Given the description of an element on the screen output the (x, y) to click on. 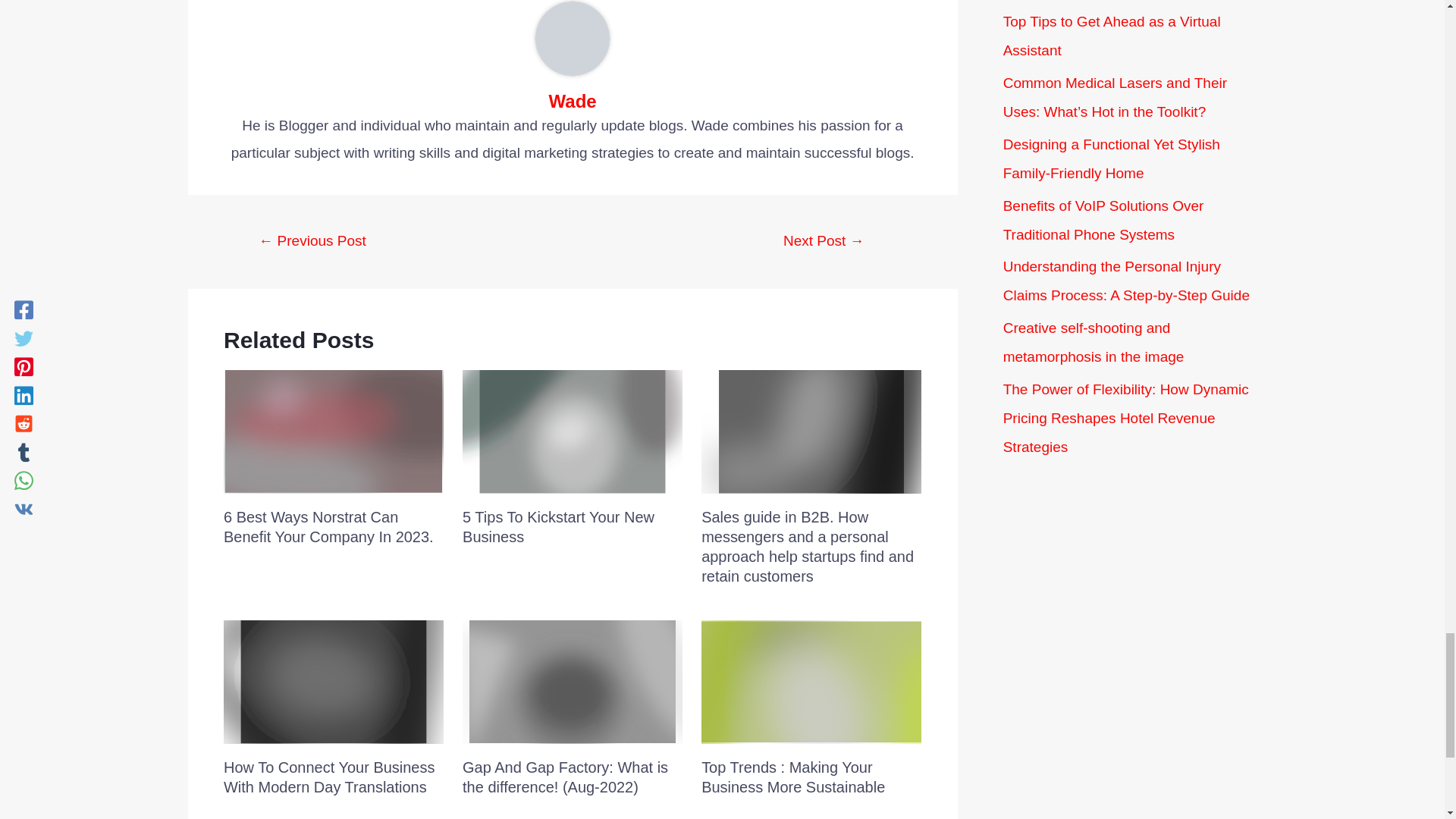
New Business (572, 431)
Gap 11zon e1661422719723 (572, 681)
Business 11zon (811, 681)
Translation 11zon (334, 681)
B2B (811, 431)
FotoJet 2022 01 01T132255.966 (334, 431)
